Given the description of an element on the screen output the (x, y) to click on. 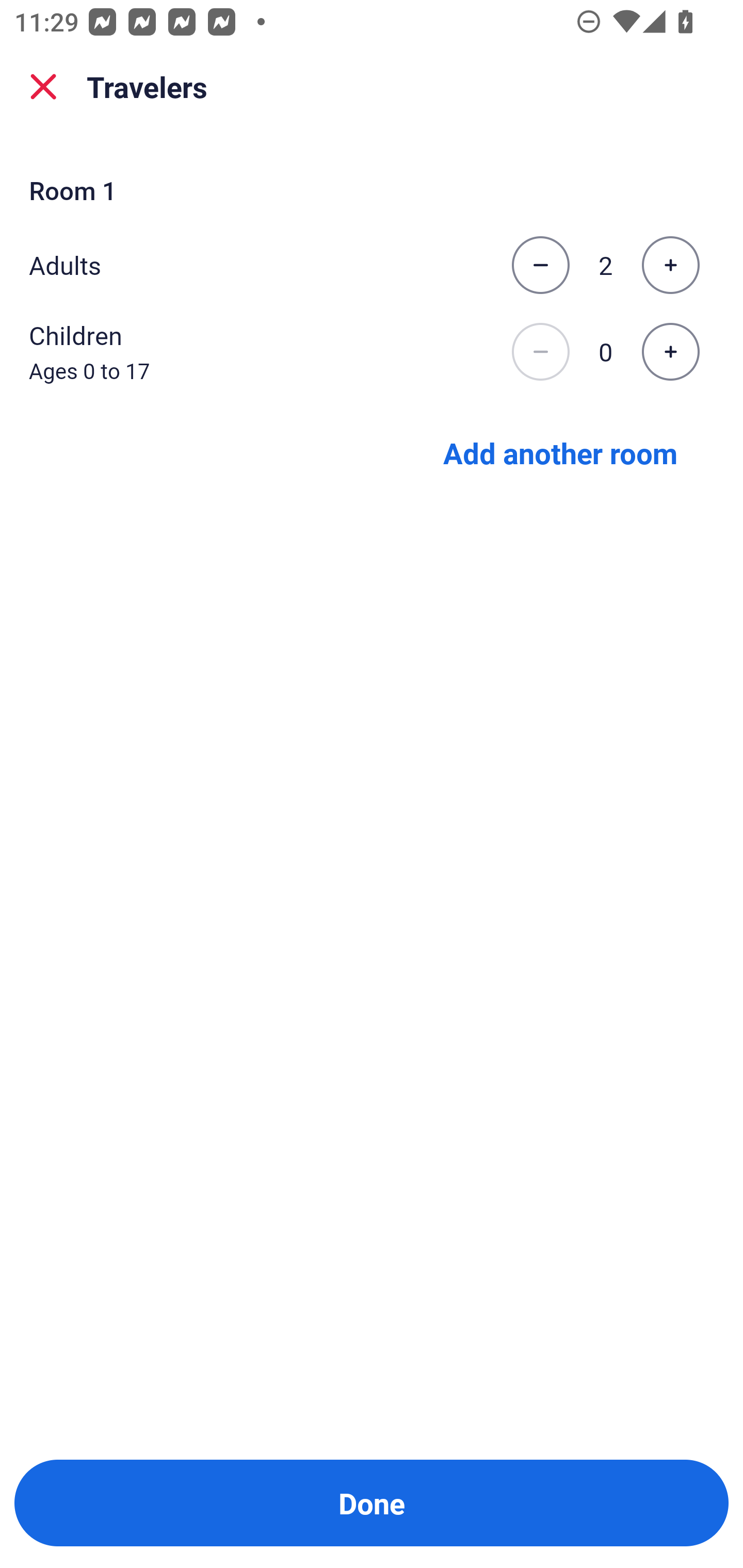
close (43, 86)
Decrease the number of adults (540, 264)
Increase the number of adults (670, 264)
Decrease the number of children (540, 351)
Increase the number of children (670, 351)
Add another room (560, 452)
Done (371, 1502)
